Given the description of an element on the screen output the (x, y) to click on. 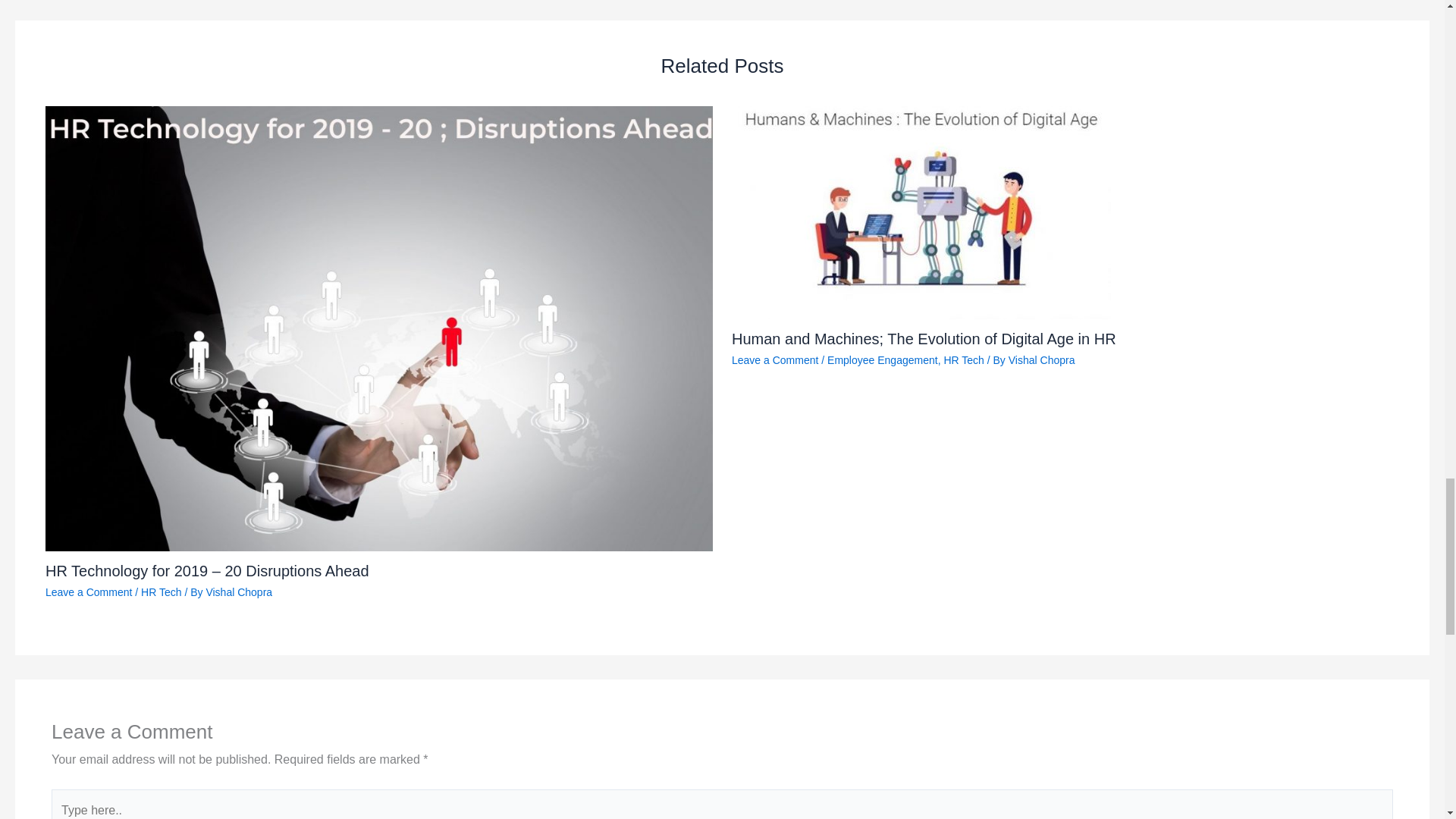
Employee Engagement (882, 359)
View all posts by Vishal Chopra (238, 592)
HR Tech (160, 592)
Leave a Comment (775, 359)
Leave a Comment (88, 592)
Human and Machines; The Evolution of Digital Age in HR (924, 338)
Vishal Chopra (238, 592)
View all posts by Vishal Chopra (1042, 359)
